Given the description of an element on the screen output the (x, y) to click on. 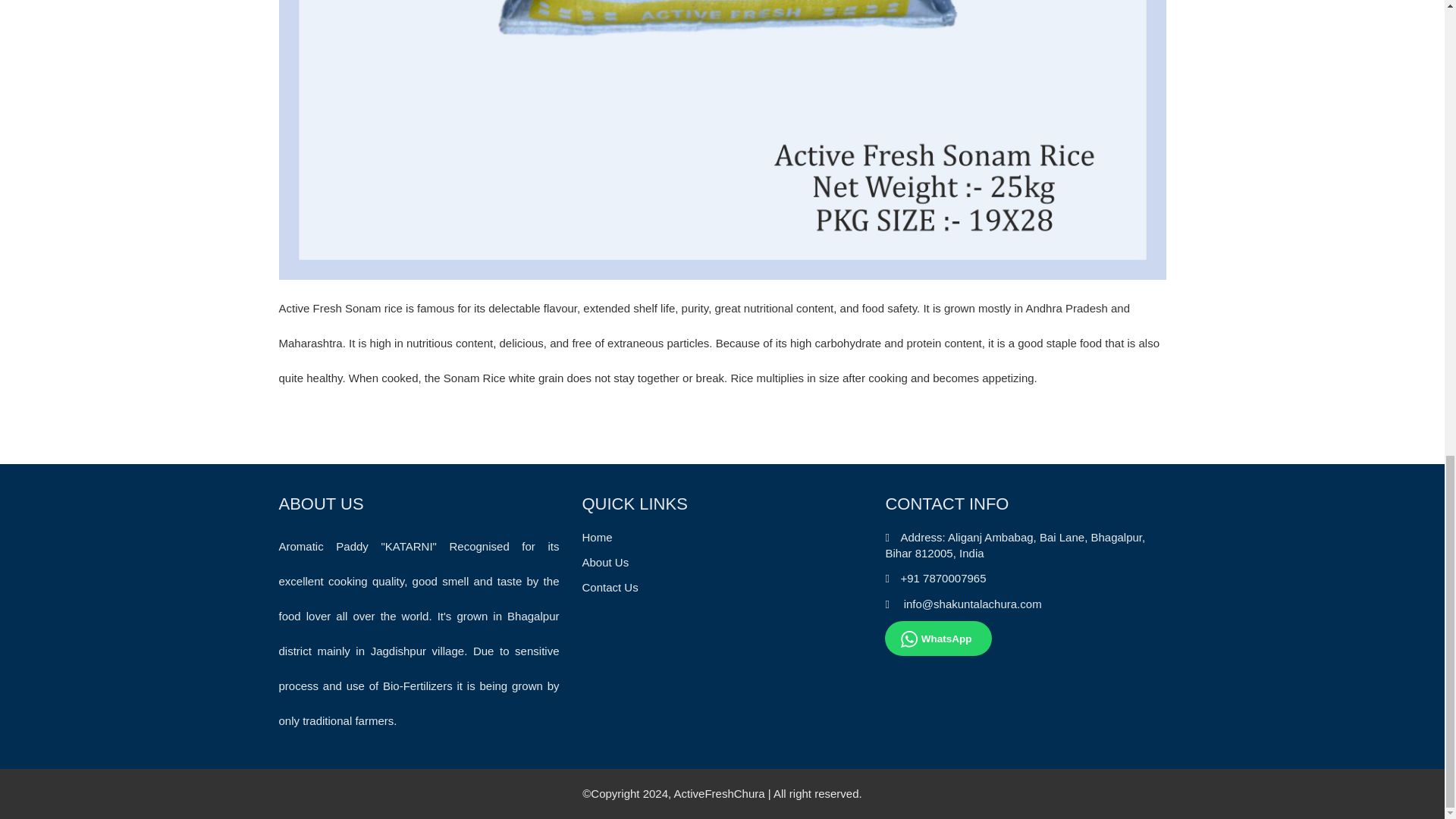
WhatsApp (938, 638)
Contact Us (608, 586)
About Us (604, 562)
Home (595, 536)
